Given the description of an element on the screen output the (x, y) to click on. 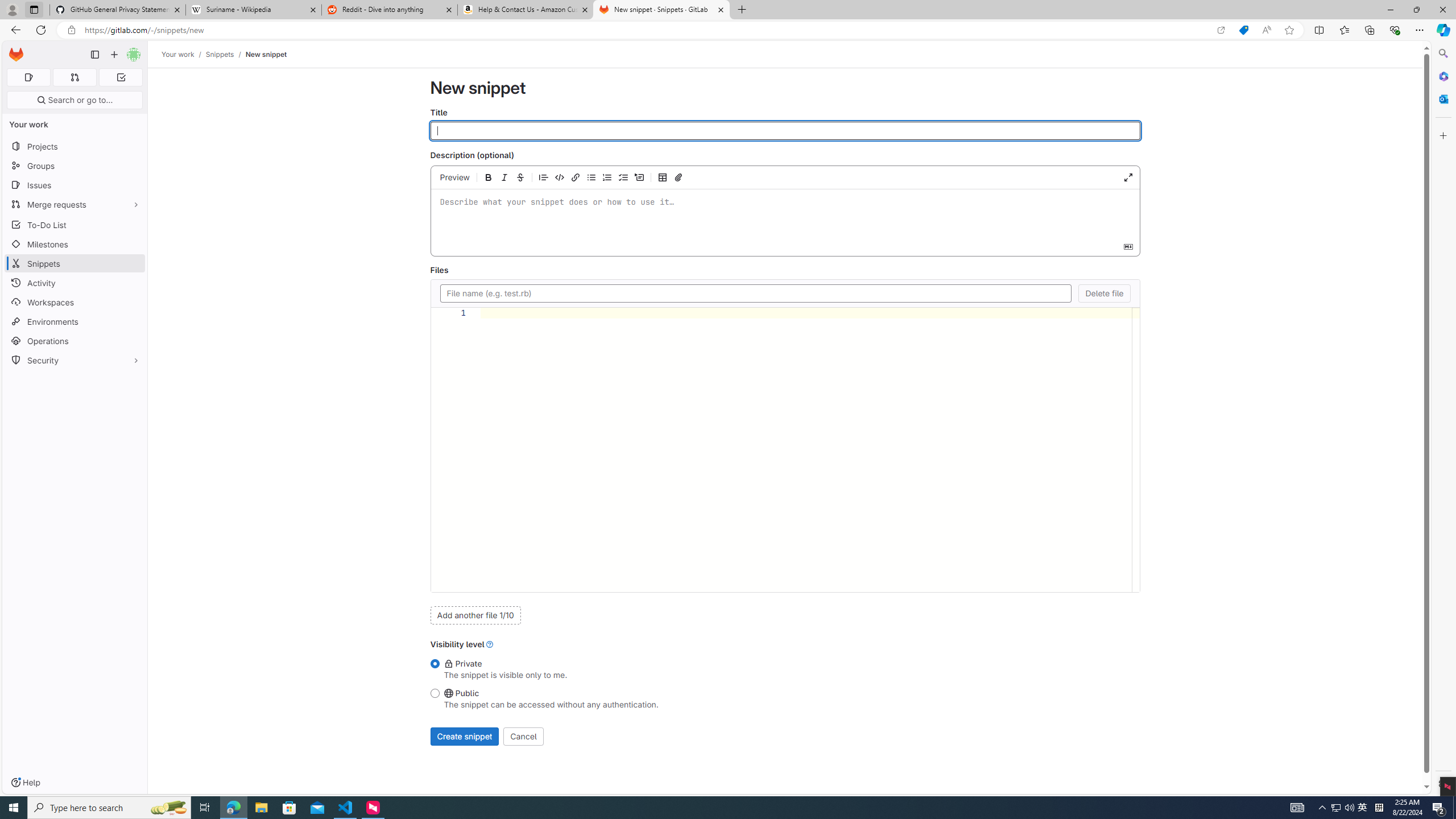
Add a link (Ctrl+K) (575, 177)
Environments (74, 321)
To-Do list 0 (120, 76)
Insert code (559, 177)
Add strikethrough text (Ctrl+Shift+X) (520, 177)
Add a checklist (622, 177)
Your work/ (183, 53)
Environments (74, 321)
